Given the description of an element on the screen output the (x, y) to click on. 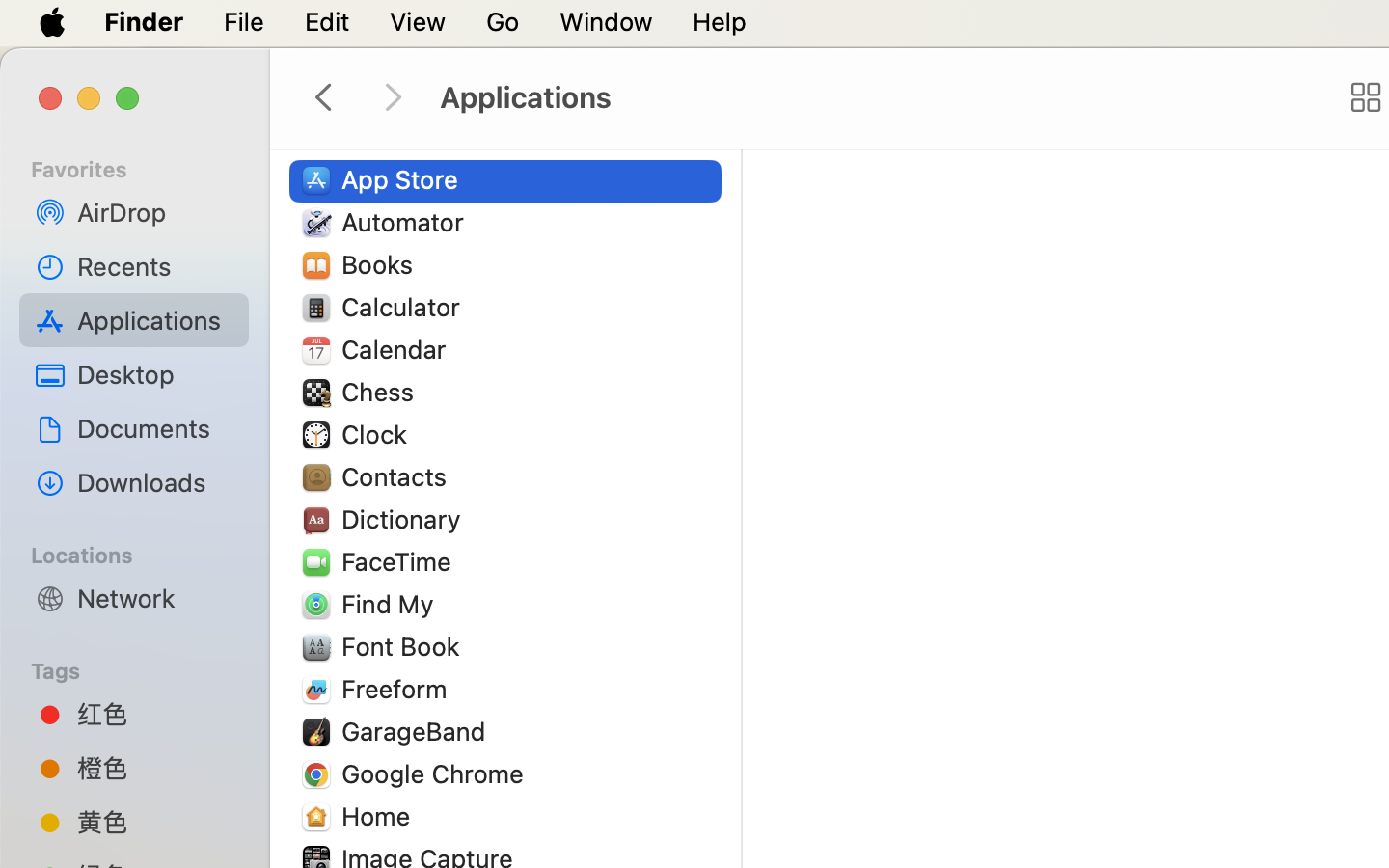
黄色 Element type: AXStaticText (155, 821)
Chess Element type: AXTextField (381, 391)
Home Element type: AXTextField (379, 815)
Contacts Element type: AXTextField (398, 476)
Automator Element type: AXTextField (406, 221)
